Given the description of an element on the screen output the (x, y) to click on. 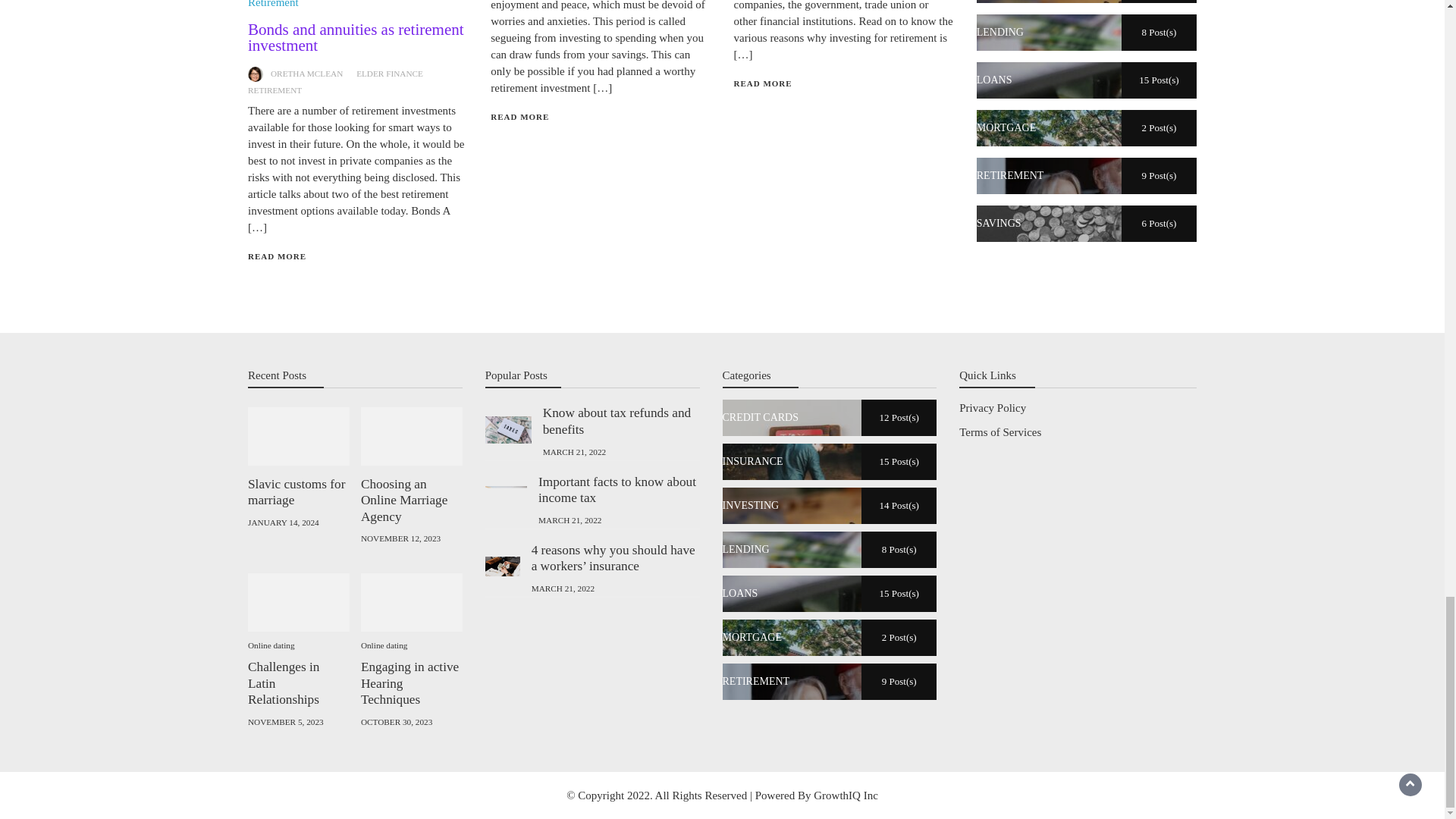
RETIREMENT (274, 90)
Retirement (272, 4)
READ MORE (519, 116)
Bonds and annuities as retirement investment (355, 37)
ORETHA MCLEAN (306, 72)
ELDER FINANCE (389, 72)
READ MORE (276, 256)
